Given the description of an element on the screen output the (x, y) to click on. 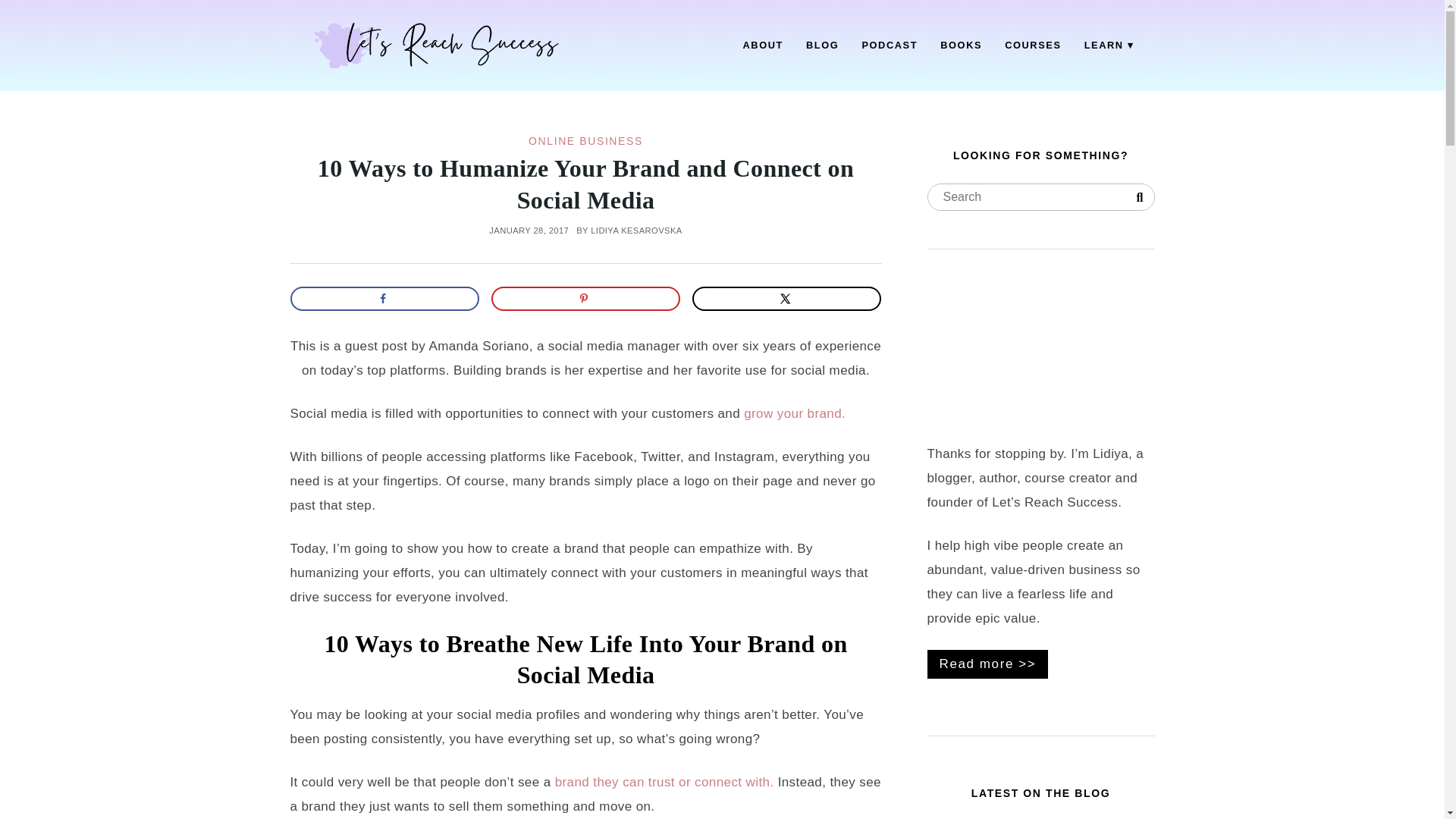
Share on Facebook (384, 298)
10 Ways to Humanize Your Brand and Connect on Social Media (585, 183)
ABOUT (763, 45)
Share on X (787, 298)
brand they can trust or connect with. (664, 781)
PODCAST (889, 45)
Save to Pinterest (586, 298)
COURSES (1032, 45)
grow your brand. (794, 413)
LEARN (1109, 45)
ONLINE BUSINESS (585, 141)
BLOG (822, 45)
BOOKS (960, 45)
10 Ways to Humanize Your Brand and Connect on Social Media (585, 183)
